Given the description of an element on the screen output the (x, y) to click on. 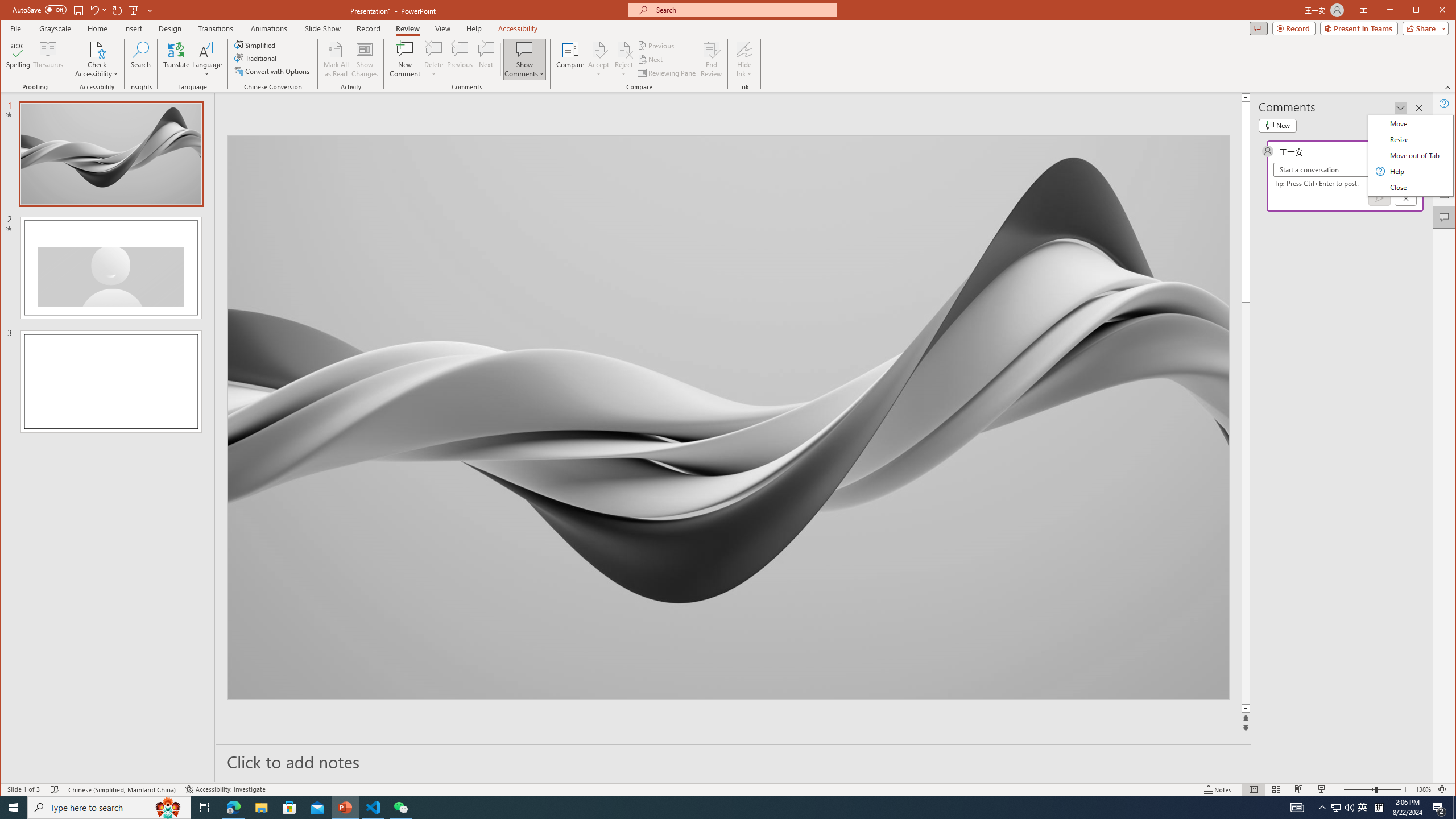
Next (1362, 807)
Running applications (651, 59)
Spell Check No Errors (707, 807)
Undo (55, 789)
Insert (94, 9)
Start (133, 28)
User Promoted Notification Area (13, 807)
File Tab (1342, 807)
Zoom to Fit  (15, 27)
Slide Show (1441, 789)
Page down (1321, 789)
Redo (1427, 503)
Slide Notes (117, 9)
Show Comments (733, 761)
